Given the description of an element on the screen output the (x, y) to click on. 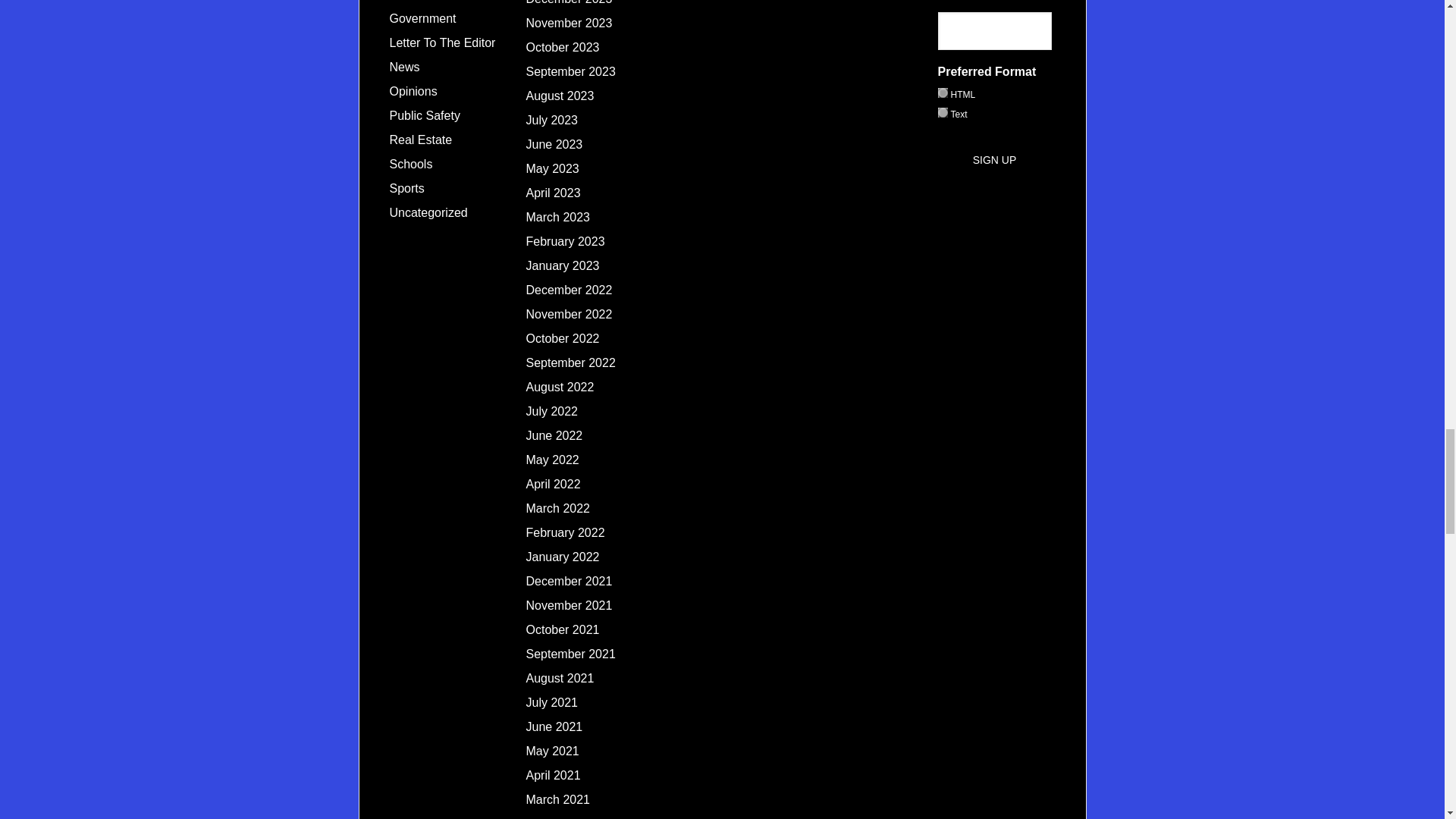
html (942, 92)
Sign Up (995, 159)
text (942, 112)
